Given the description of an element on the screen output the (x, y) to click on. 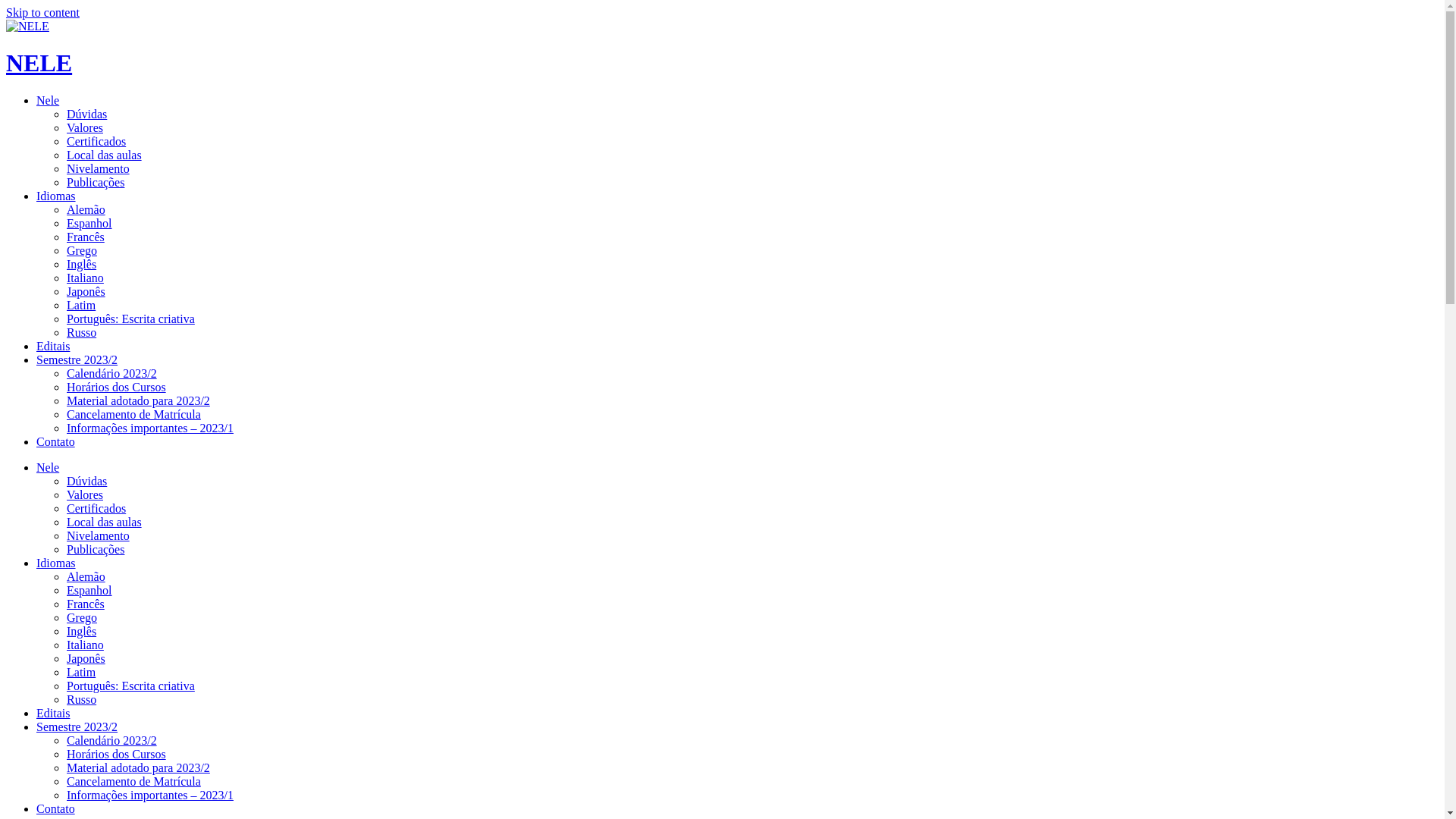
NELE Element type: text (39, 62)
Skip to content Element type: text (42, 12)
Nivelamento Element type: text (97, 535)
Local das aulas Element type: text (103, 521)
Contato Element type: text (55, 441)
Russo Element type: text (81, 332)
Idiomas Element type: text (55, 195)
Nele Element type: text (47, 467)
Latim Element type: text (80, 304)
Certificados Element type: text (95, 508)
Latim Element type: text (80, 671)
Editais Element type: text (52, 712)
Semestre 2023/2 Element type: text (76, 359)
Grego Element type: text (81, 617)
Contato Element type: text (55, 808)
Editais Element type: text (52, 345)
Italiano Element type: text (84, 644)
Espanhol Element type: text (89, 589)
Nele Element type: text (47, 100)
Italiano Element type: text (84, 277)
Certificados Element type: text (95, 140)
Espanhol Element type: text (89, 222)
Valores Element type: text (84, 494)
Material adotado para 2023/2 Element type: text (138, 400)
Idiomas Element type: text (55, 562)
Semestre 2023/2 Element type: text (76, 726)
Material adotado para 2023/2 Element type: text (138, 767)
Valores Element type: text (84, 127)
Russo Element type: text (81, 699)
Nivelamento Element type: text (97, 168)
Grego Element type: text (81, 250)
Local das aulas Element type: text (103, 154)
